Given the description of an element on the screen output the (x, y) to click on. 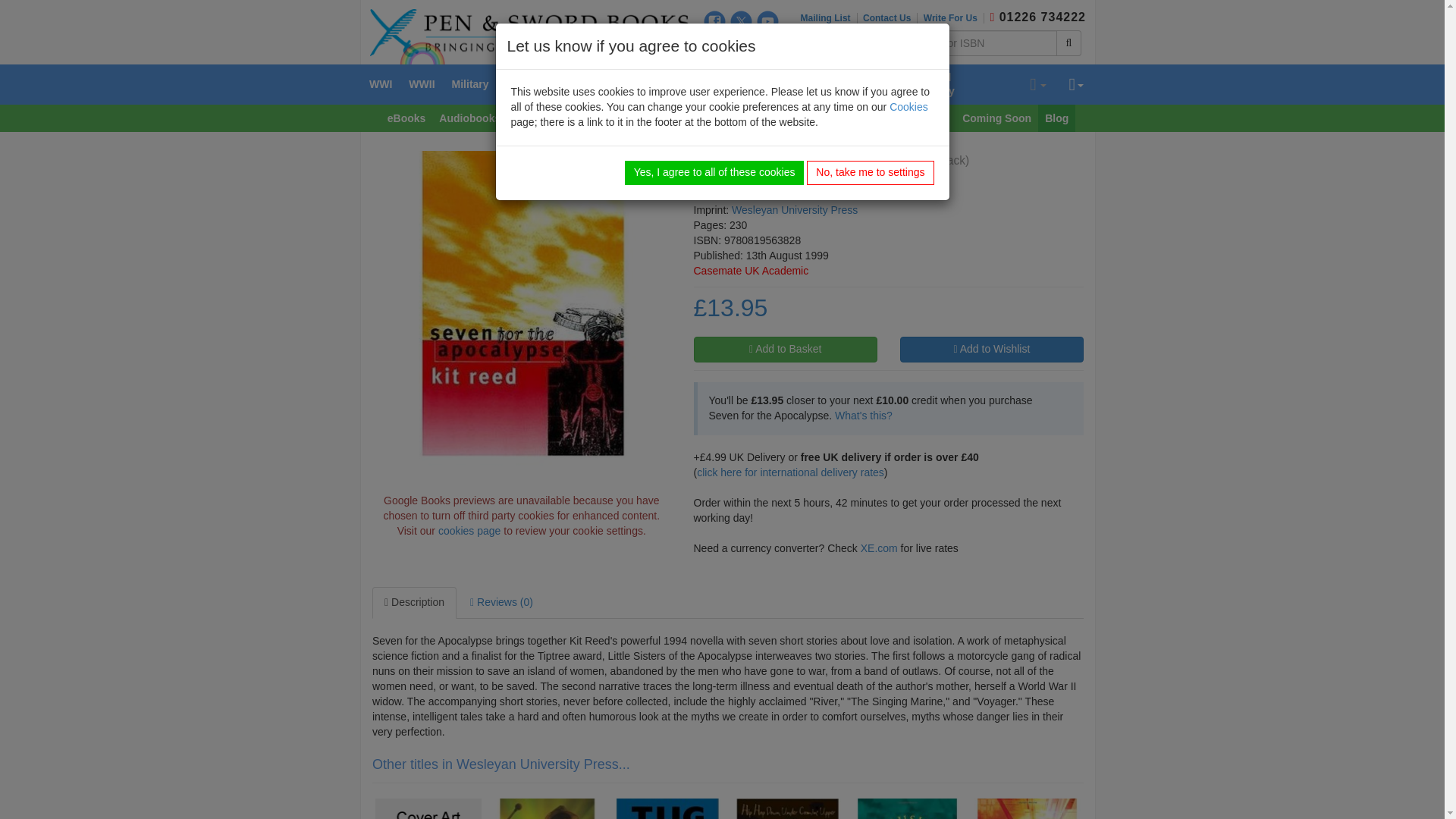
Contact Us (890, 18)
Instagram (714, 45)
YouTube (767, 21)
NetGalley (767, 45)
TikTok (741, 45)
Mailing List (828, 18)
X (741, 21)
Facebook (714, 21)
Write For Us (953, 18)
Your basket is empty (1037, 84)
